Given the description of an element on the screen output the (x, y) to click on. 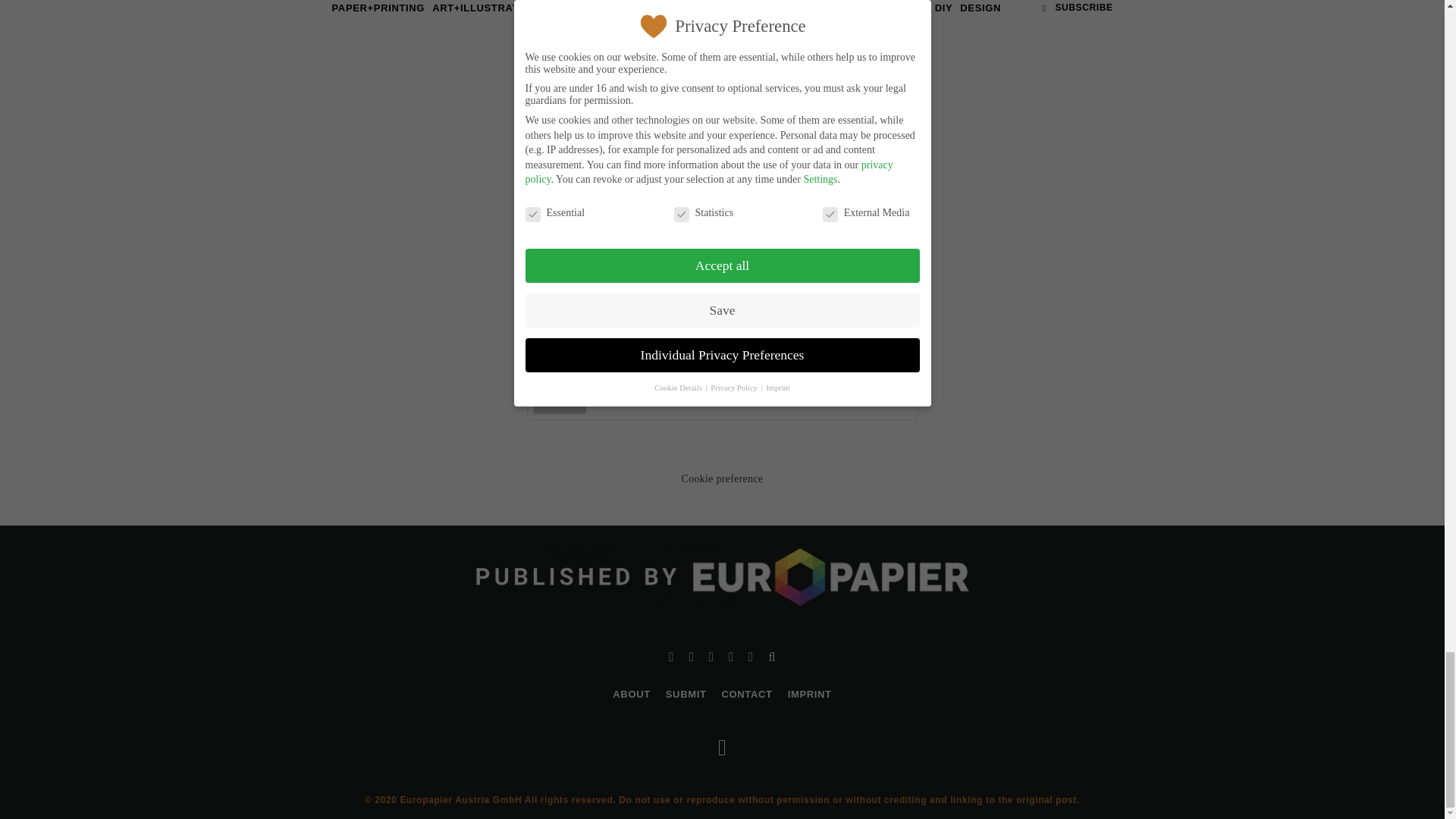
1 (660, 303)
